Given the description of an element on the screen output the (x, y) to click on. 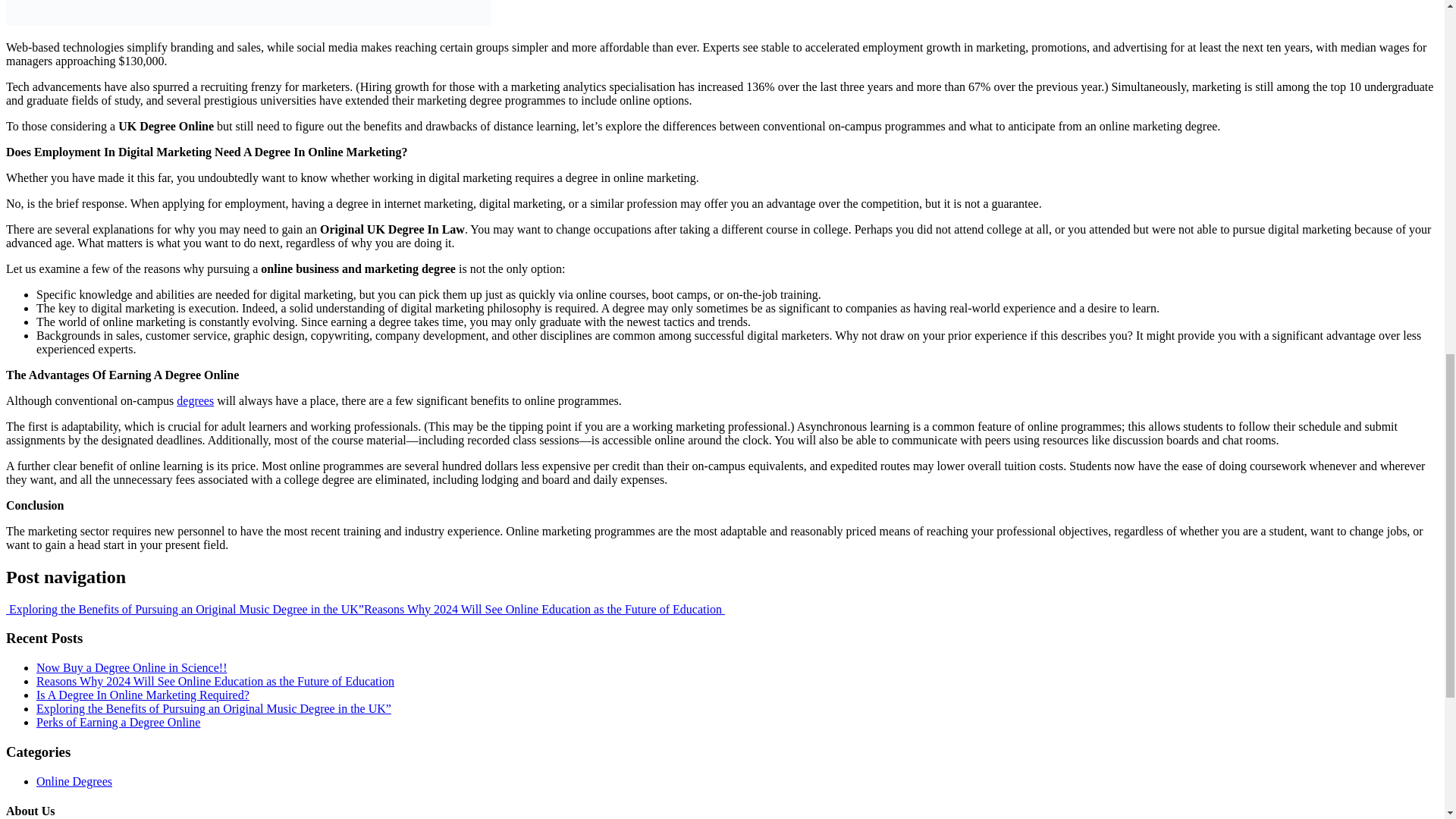
Is A Degree In Online Marketing Required? (142, 694)
Perks of Earning a Degree Online (118, 721)
degrees (195, 400)
Online Degrees (74, 780)
Now Buy a Degree Online in Science!! (131, 667)
